Given the description of an element on the screen output the (x, y) to click on. 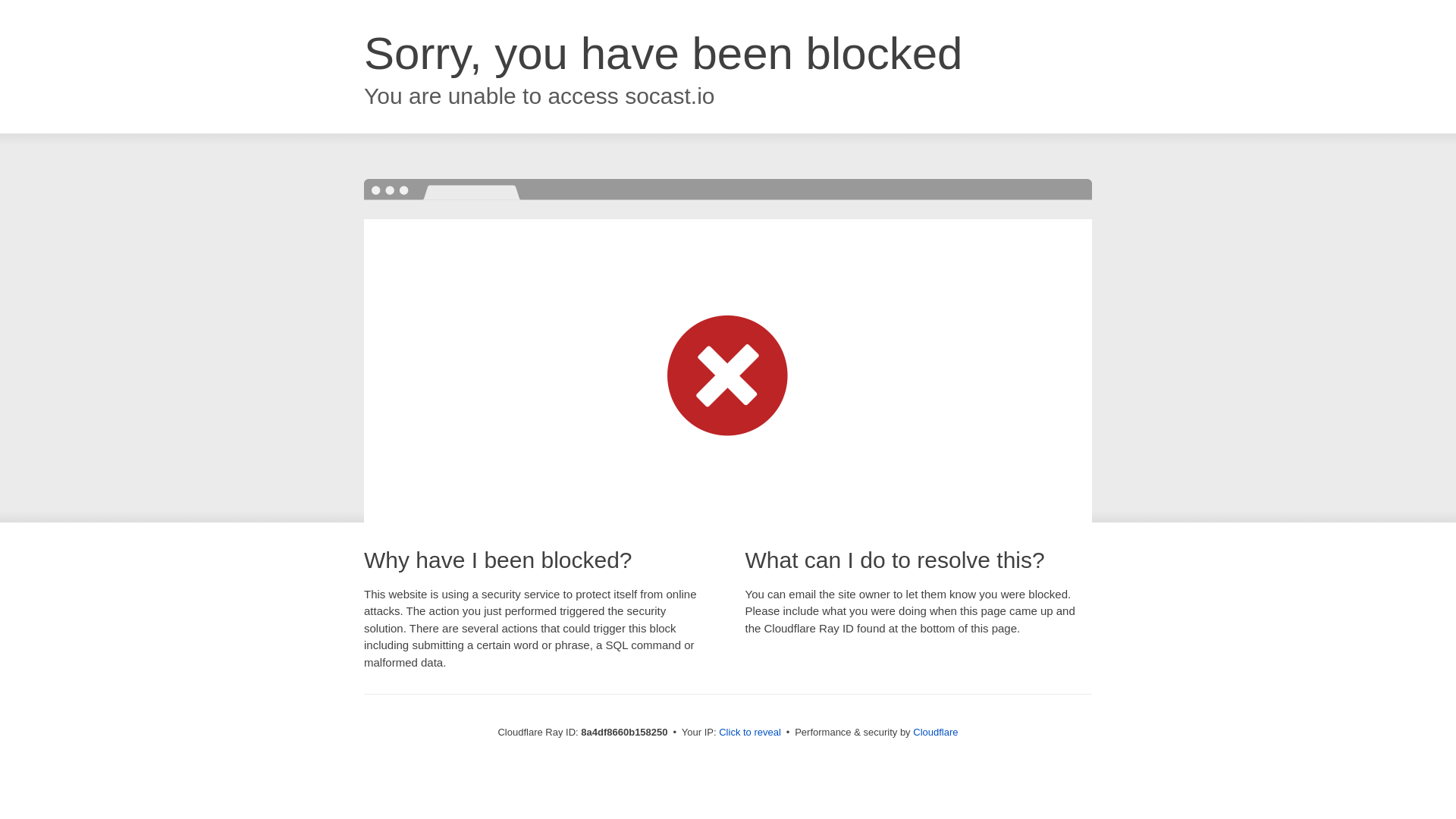
Cloudflare (935, 731)
Click to reveal (749, 732)
